Given the description of an element on the screen output the (x, y) to click on. 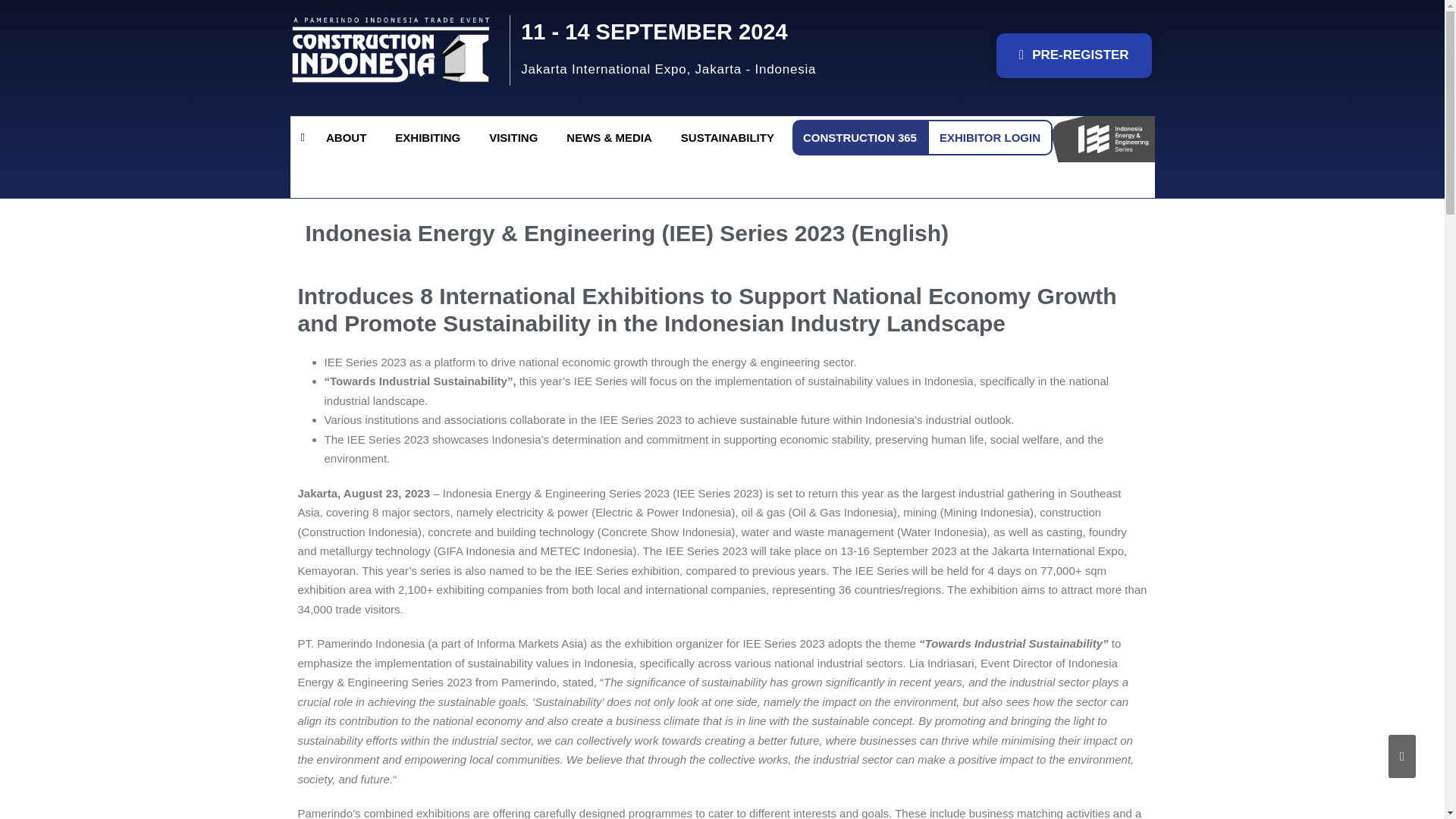
ABOUT (349, 137)
EXHIBITING (431, 137)
CONSTRUCTION 365 (859, 137)
PRE-REGISTER (1073, 55)
SUSTAINABILITY (730, 137)
EXHIBITOR LOGIN (989, 137)
VISITING (517, 137)
IEE SERIES (342, 174)
